Given the description of an element on the screen output the (x, y) to click on. 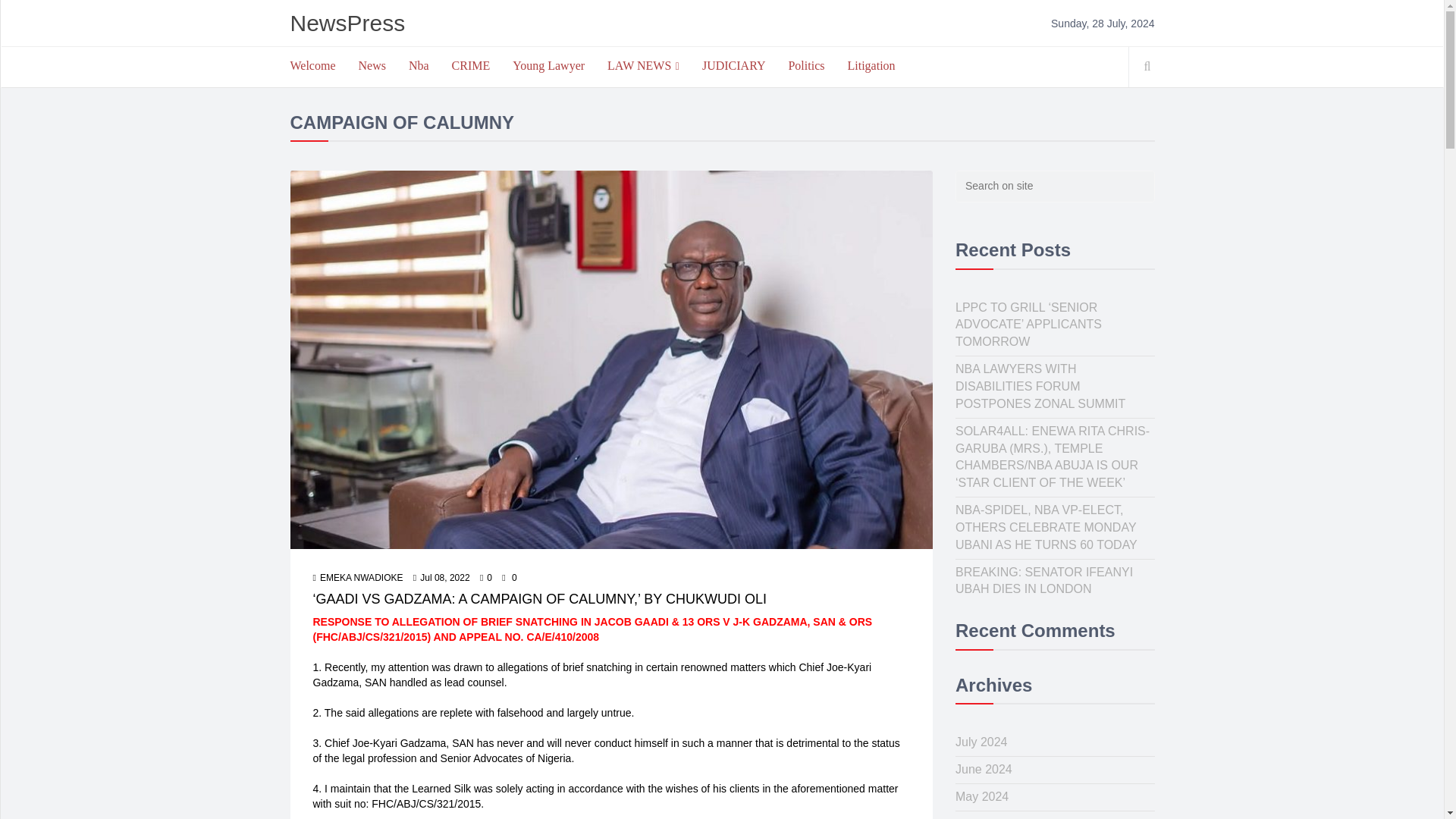
EMEKA NWADIOKE (358, 577)
0 (486, 577)
Young Lawyer (547, 65)
Welcome (313, 65)
Nba (419, 65)
News (372, 65)
JUDICIARY (733, 65)
NewsPress (347, 22)
CRIME (471, 65)
LAW NEWS (642, 65)
Politics (805, 65)
Like (486, 577)
Litigation (870, 65)
